Given the description of an element on the screen output the (x, y) to click on. 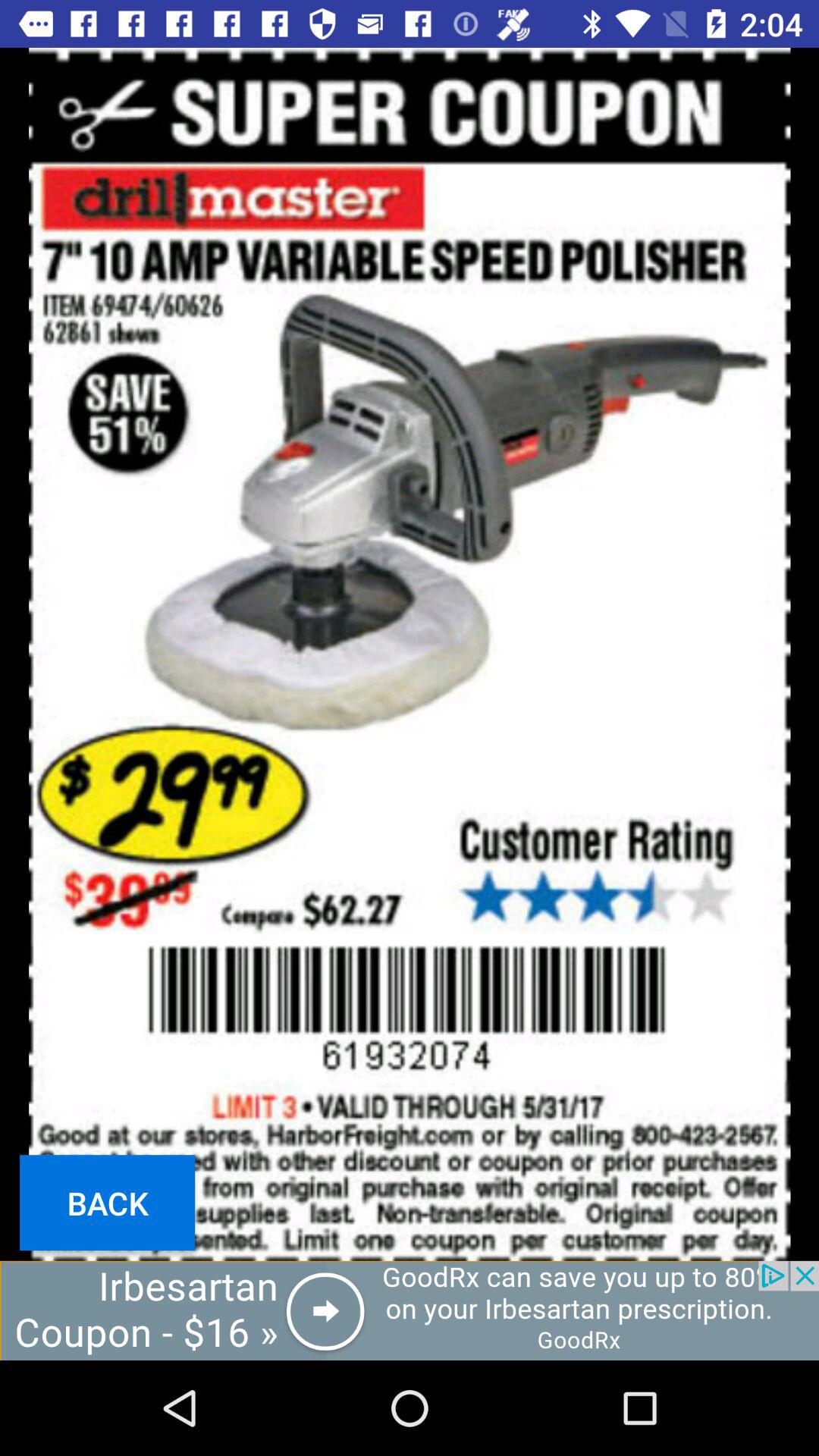
advertisement bar (409, 1310)
